Given the description of an element on the screen output the (x, y) to click on. 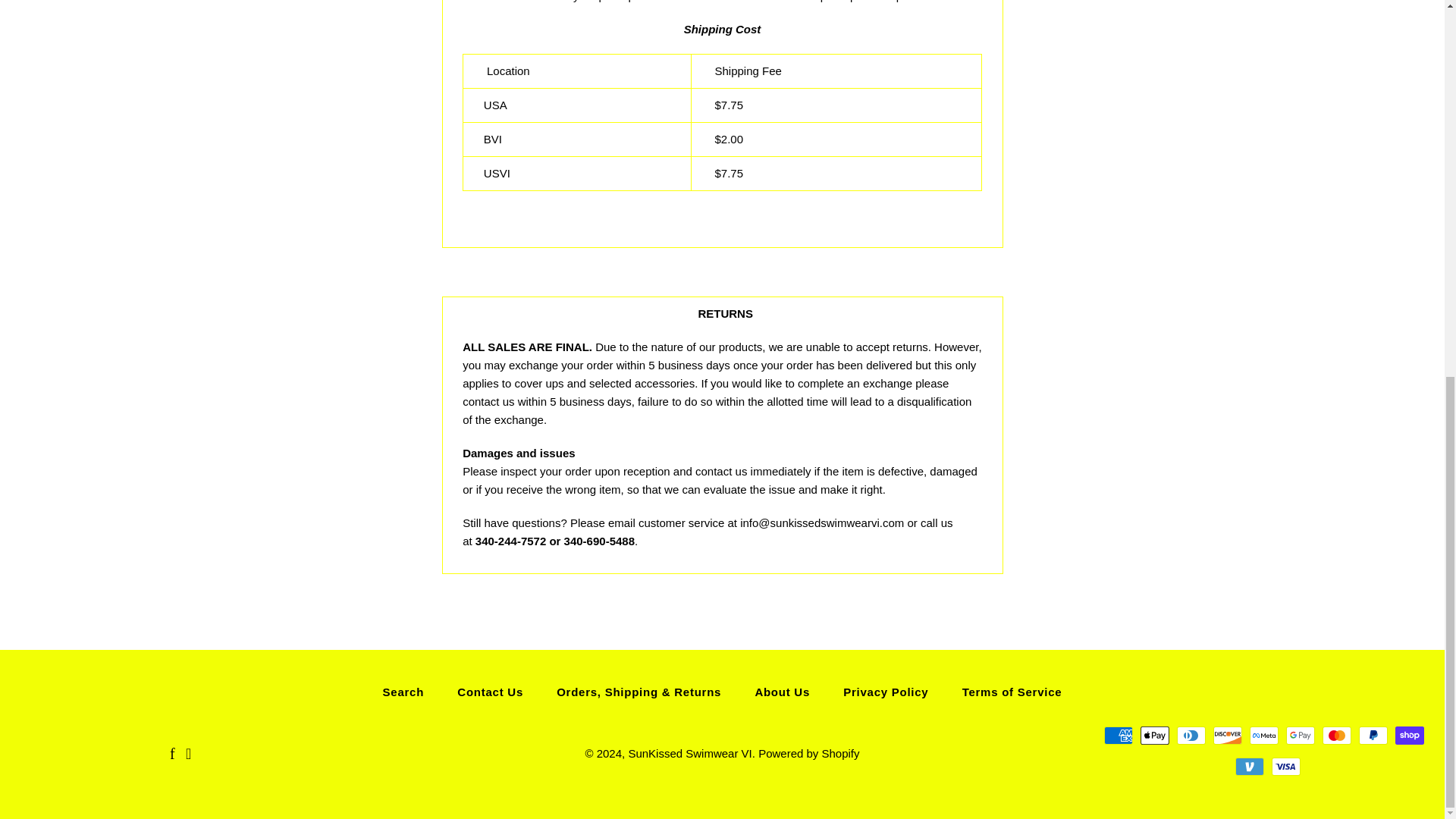
Mastercard (1336, 735)
American Express (1117, 735)
Discover (1226, 735)
Venmo (1248, 766)
Meta Pay (1263, 735)
Apple Pay (1154, 735)
Visa (1285, 766)
Shop Pay (1408, 735)
SunKissed Swimwear VI on Instagram (188, 754)
SunKissed Swimwear VI on Facebook (172, 754)
Google Pay (1299, 735)
Diners Club (1190, 735)
PayPal (1372, 735)
